Given the description of an element on the screen output the (x, y) to click on. 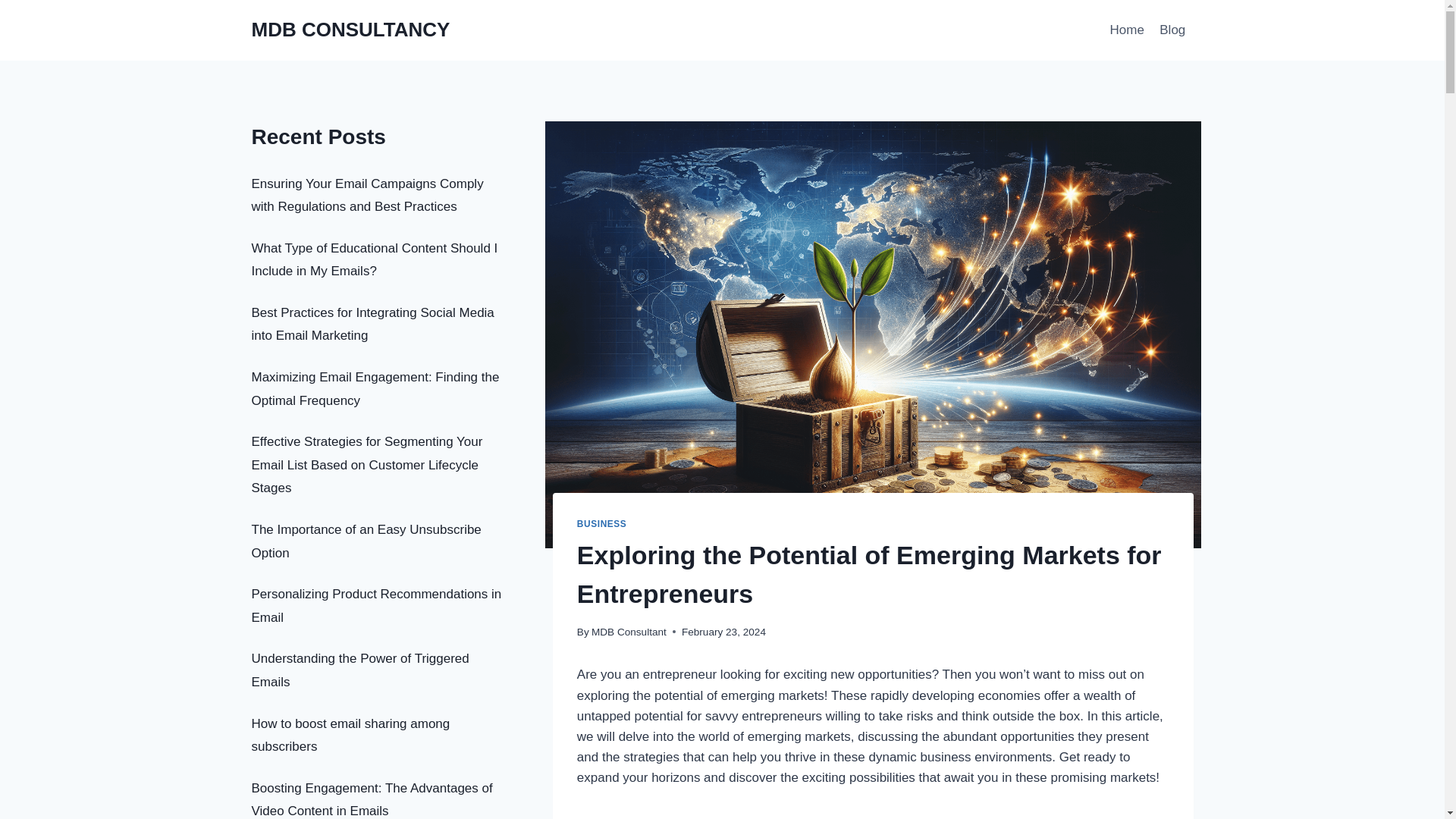
MDB Consultant (628, 632)
Home (1126, 30)
BUSINESS (601, 523)
MDB CONSULTANCY (350, 29)
Blog (1171, 30)
